Given the description of an element on the screen output the (x, y) to click on. 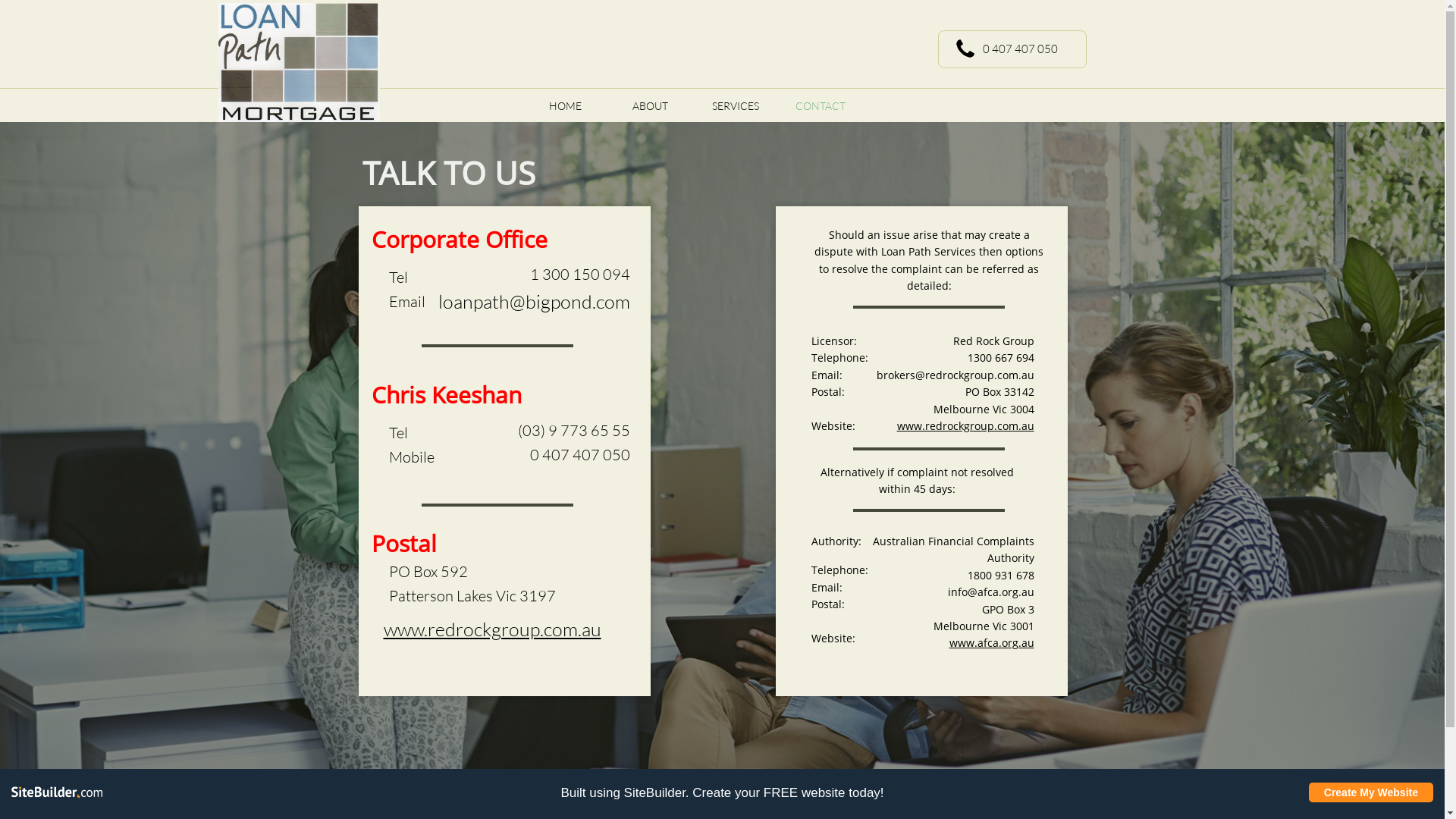
HOME Element type: text (565, 106)
www.redrockgroup.com.au Element type: text (964, 425)
ABOUT Element type: text (650, 106)
www.afca.org.au Element type: text (991, 643)
SERVICES Element type: text (735, 106)
www.redrockgroup.com.au Element type: text (492, 628)
CONTACT Element type: text (820, 106)
